Given the description of an element on the screen output the (x, y) to click on. 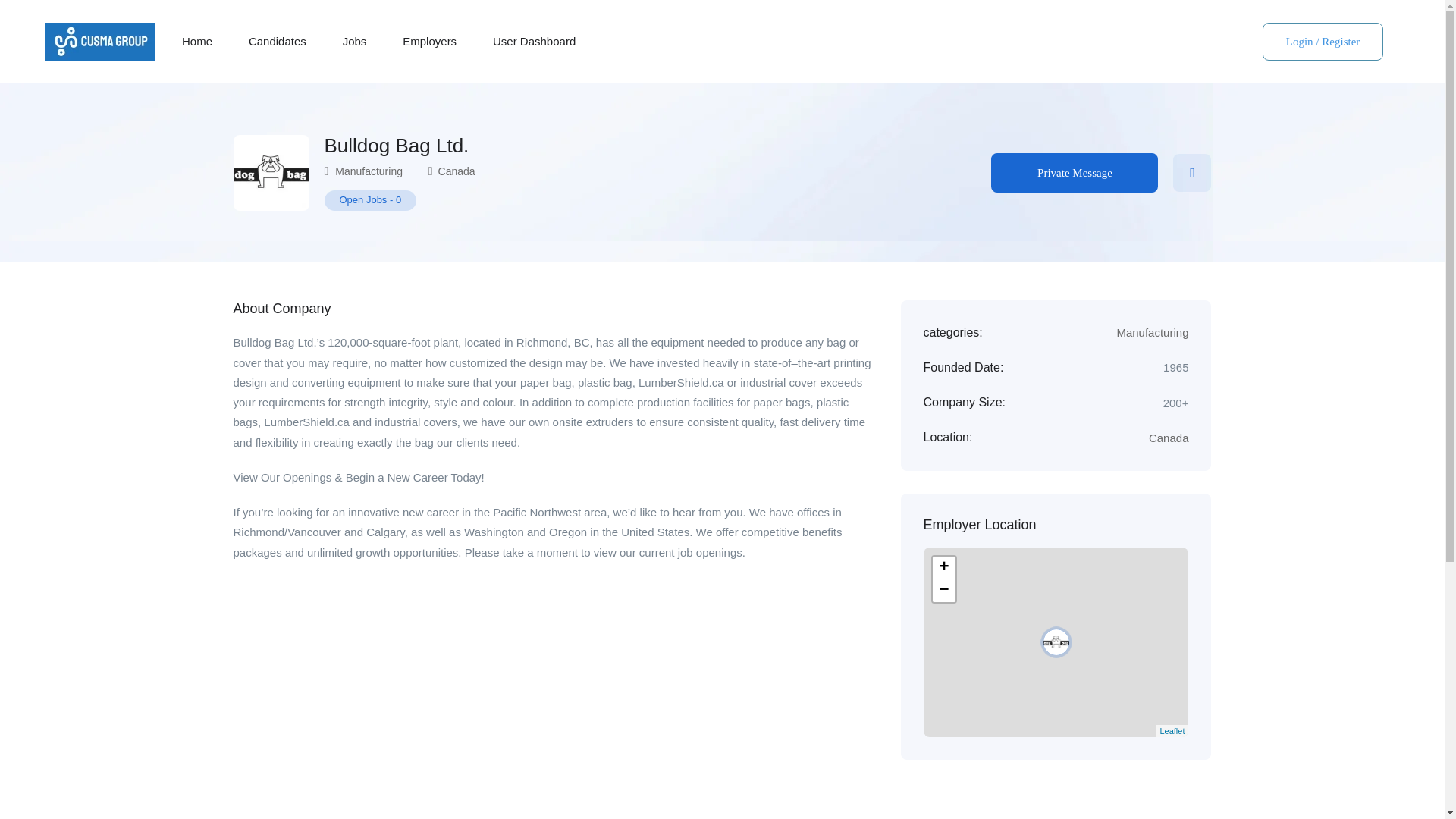
Canada (457, 171)
A JS library for interactive maps (1171, 730)
Employers (430, 41)
Manufacturing (368, 171)
Candidates (276, 41)
Zoom in (944, 567)
User Dashboard (534, 41)
Zoom out (944, 590)
